Given the description of an element on the screen output the (x, y) to click on. 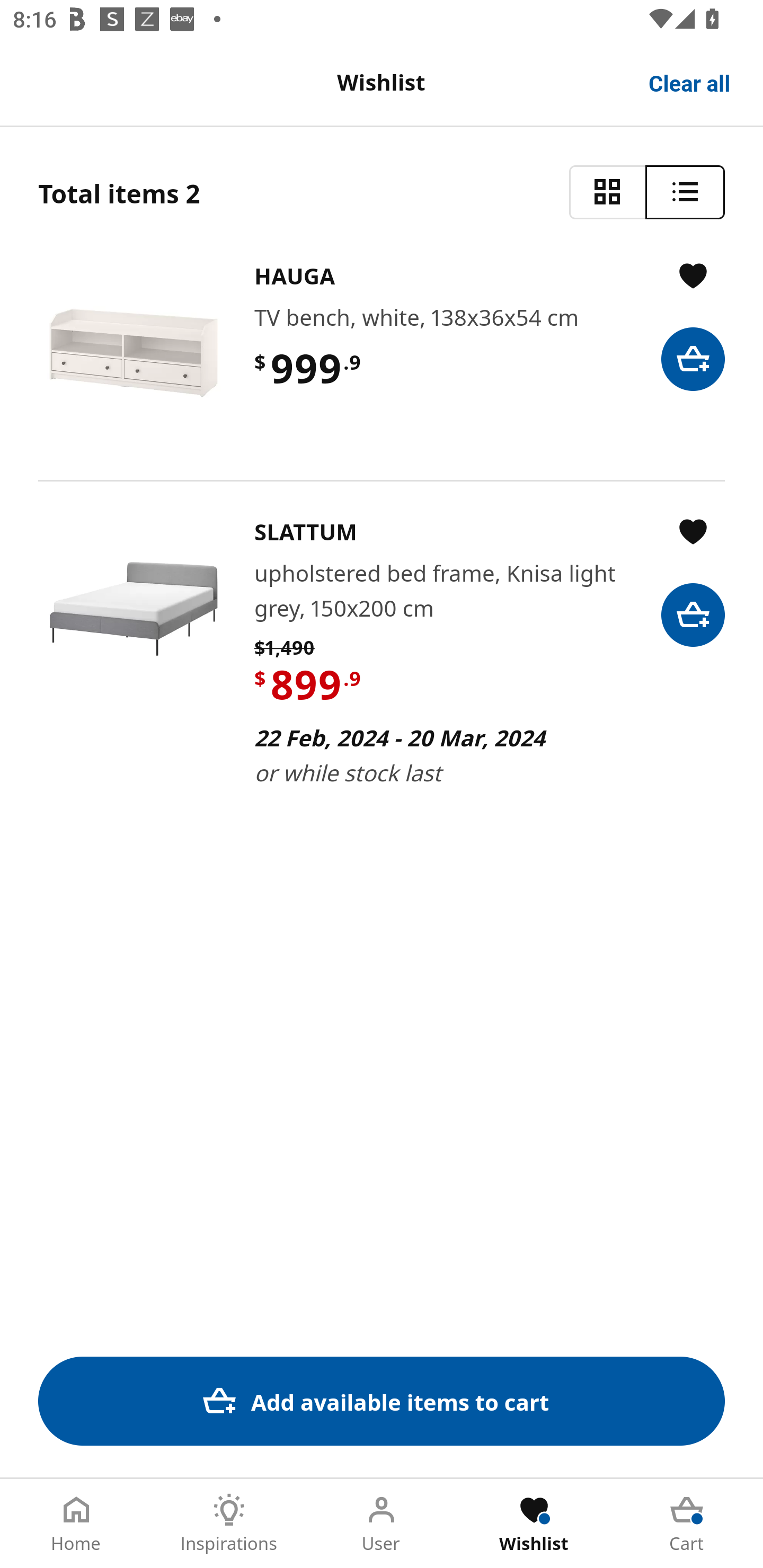
Clear all (689, 81)
​H​A​U​G​A​
TV bench, white, 138x36x54 cm
$
999
.9 (381, 352)
Add available items to cart (381, 1400)
Home
Tab 1 of 5 (76, 1522)
Inspirations
Tab 2 of 5 (228, 1522)
User
Tab 3 of 5 (381, 1522)
Wishlist
Tab 4 of 5 (533, 1522)
Cart
Tab 5 of 5 (686, 1522)
